Given the description of an element on the screen output the (x, y) to click on. 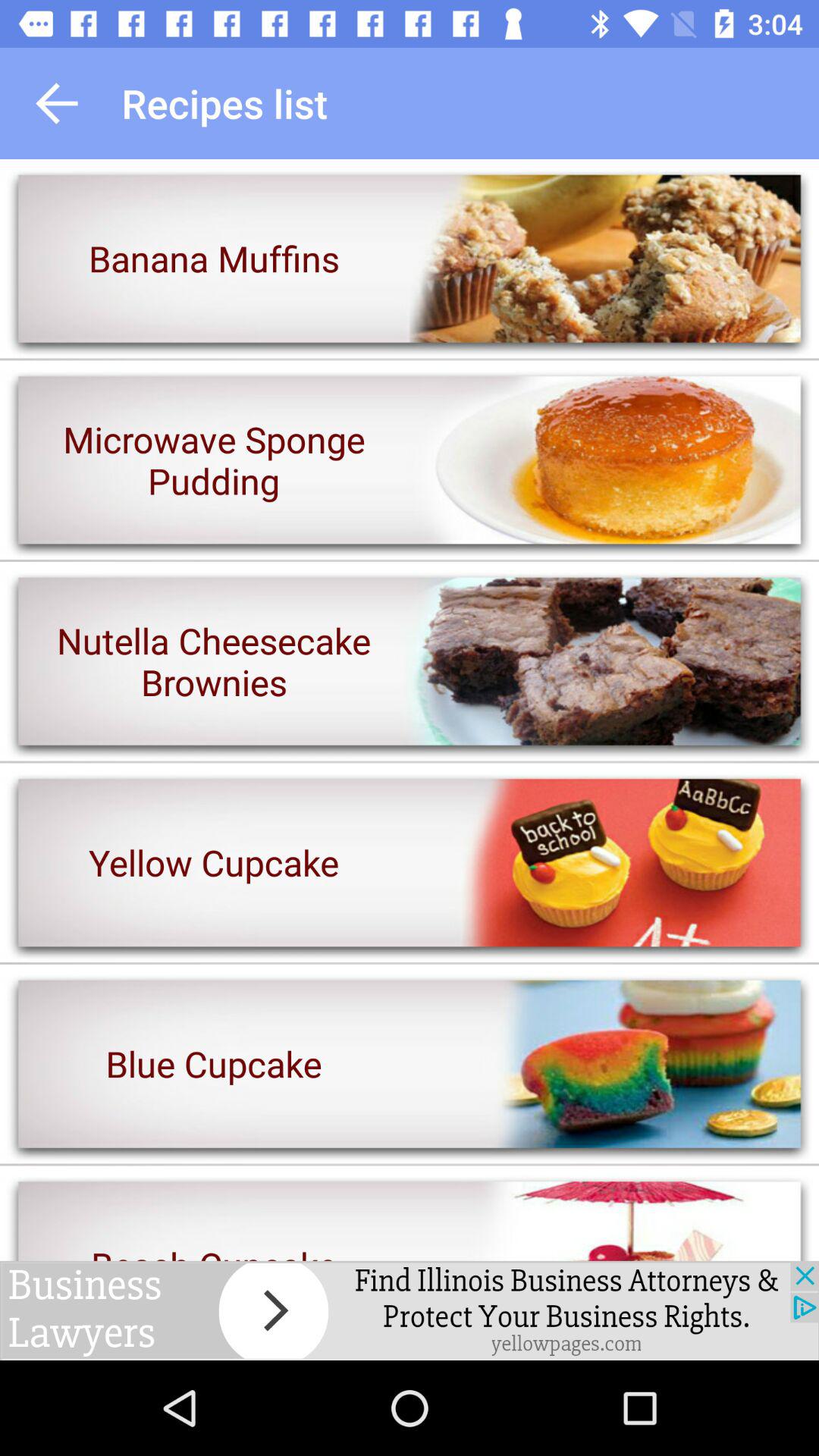
advertisement (409, 1310)
